Given the description of an element on the screen output the (x, y) to click on. 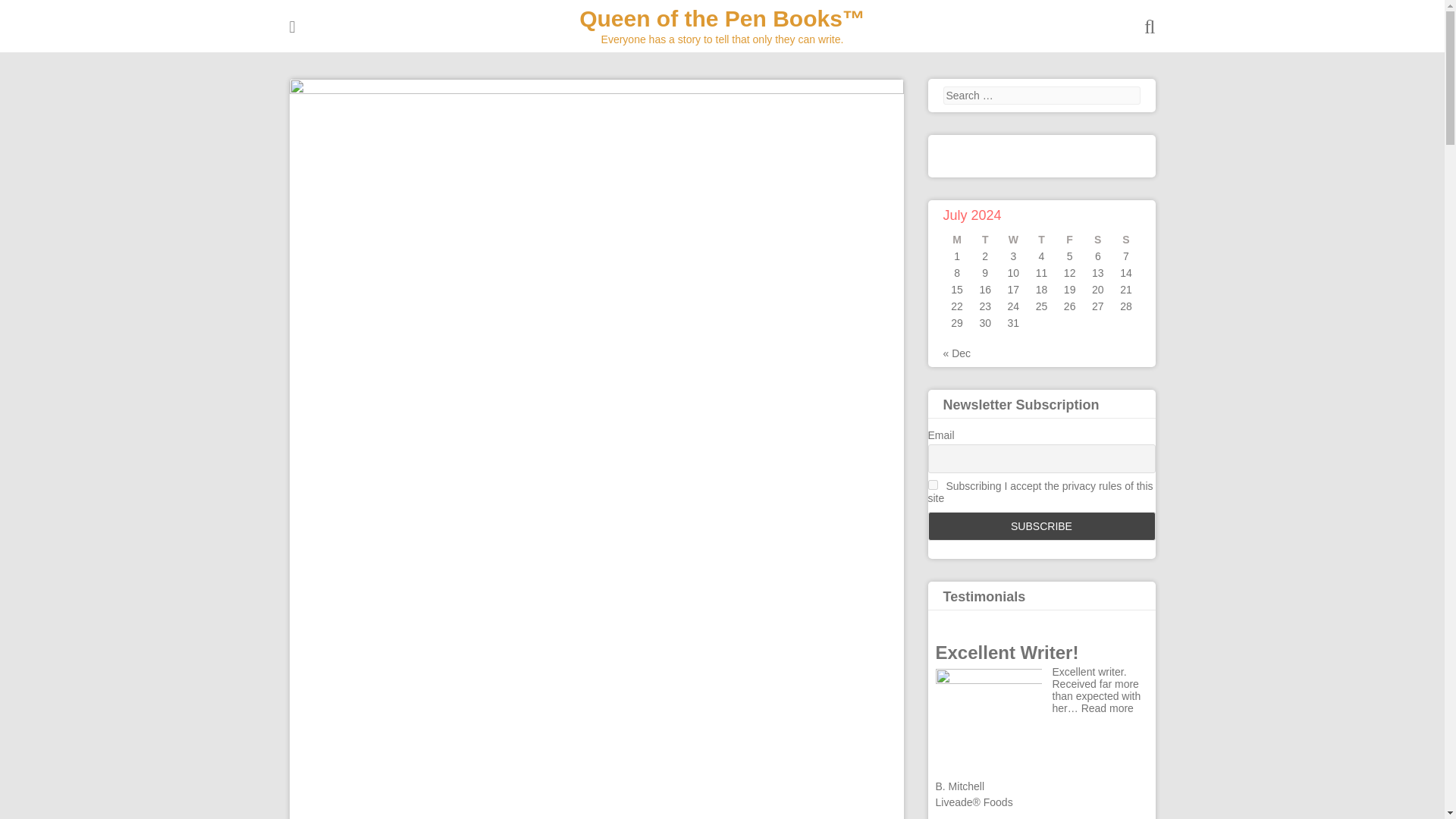
on (932, 484)
Subscribe (1042, 525)
Everyone has a story to tell that only they can write. (721, 18)
